Given the description of an element on the screen output the (x, y) to click on. 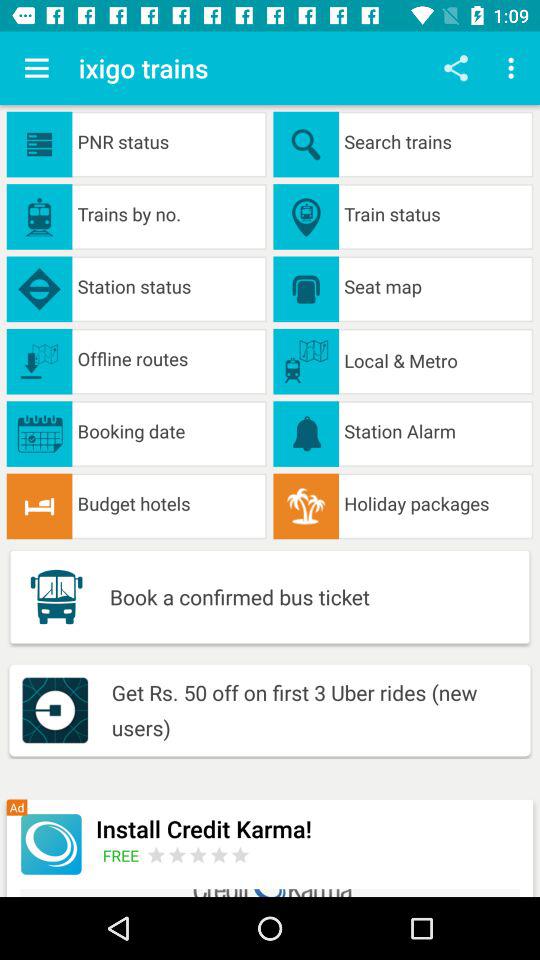
input rating (197, 854)
